Given the description of an element on the screen output the (x, y) to click on. 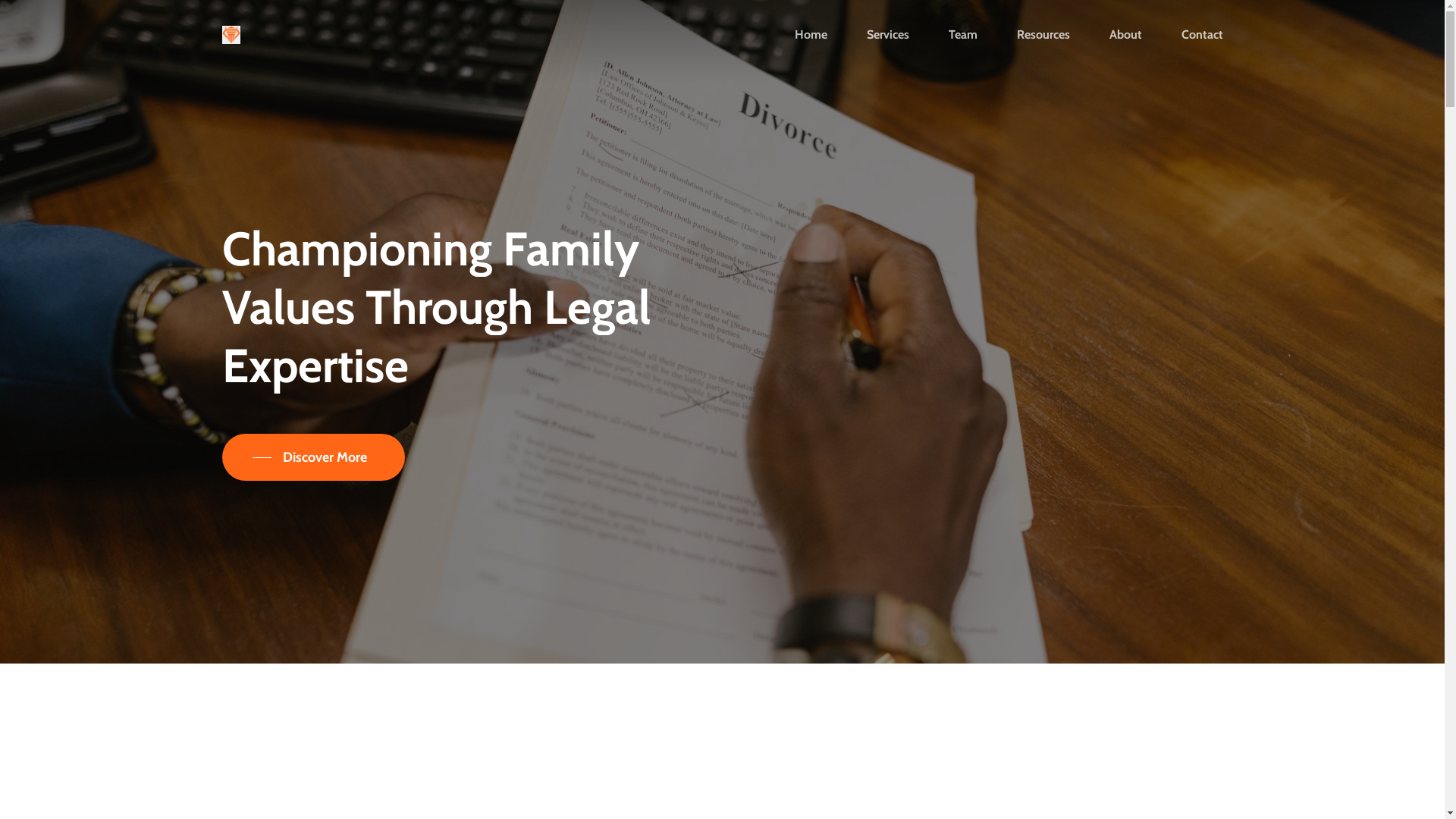
About Element type: text (1124, 34)
Discover More Element type: text (312, 456)
Resources Element type: text (1042, 34)
Home Element type: text (810, 34)
Services Element type: text (887, 34)
Contact Element type: text (1202, 34)
Team Element type: text (961, 34)
